Given the description of an element on the screen output the (x, y) to click on. 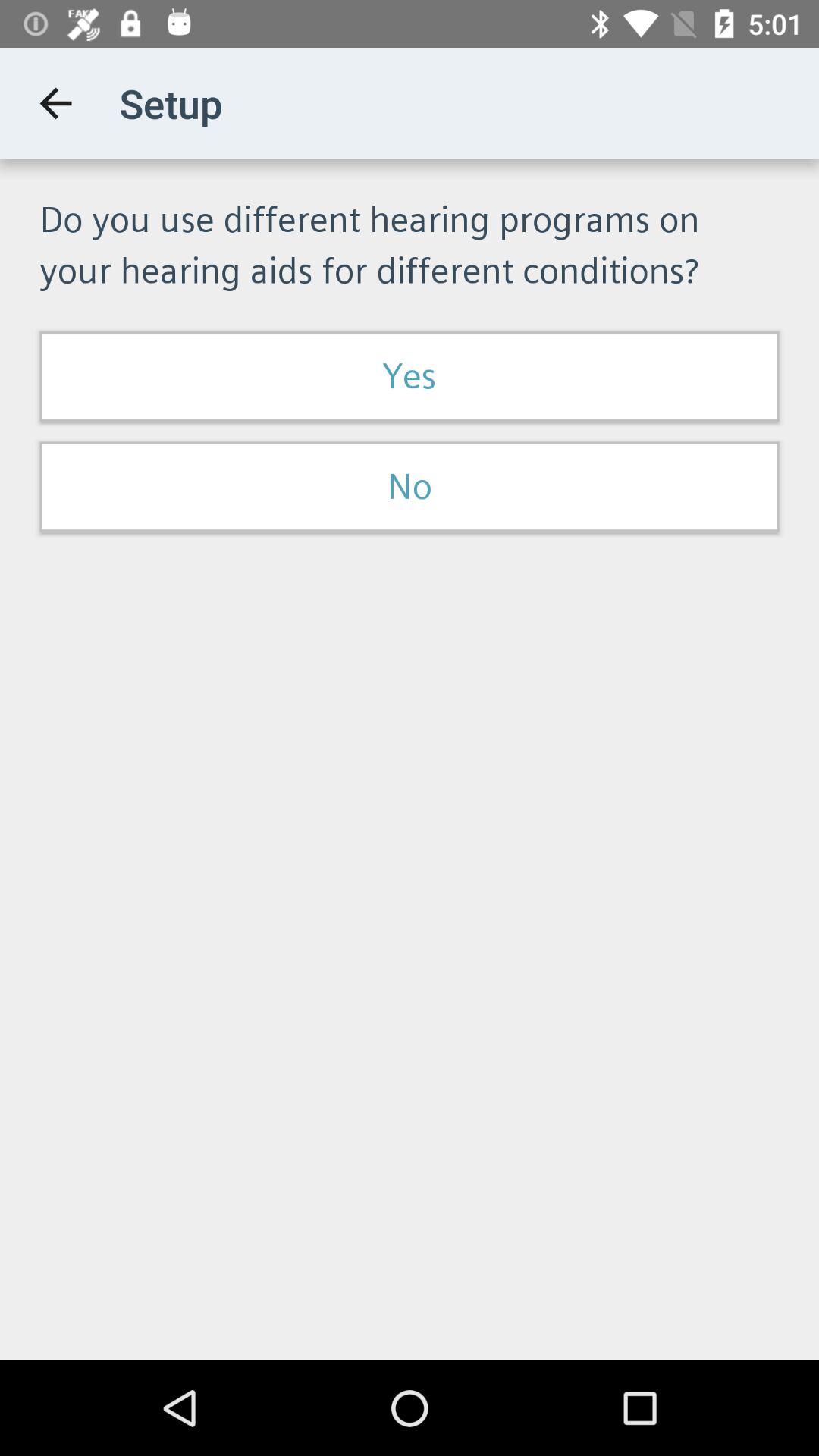
flip to no item (409, 486)
